Given the description of an element on the screen output the (x, y) to click on. 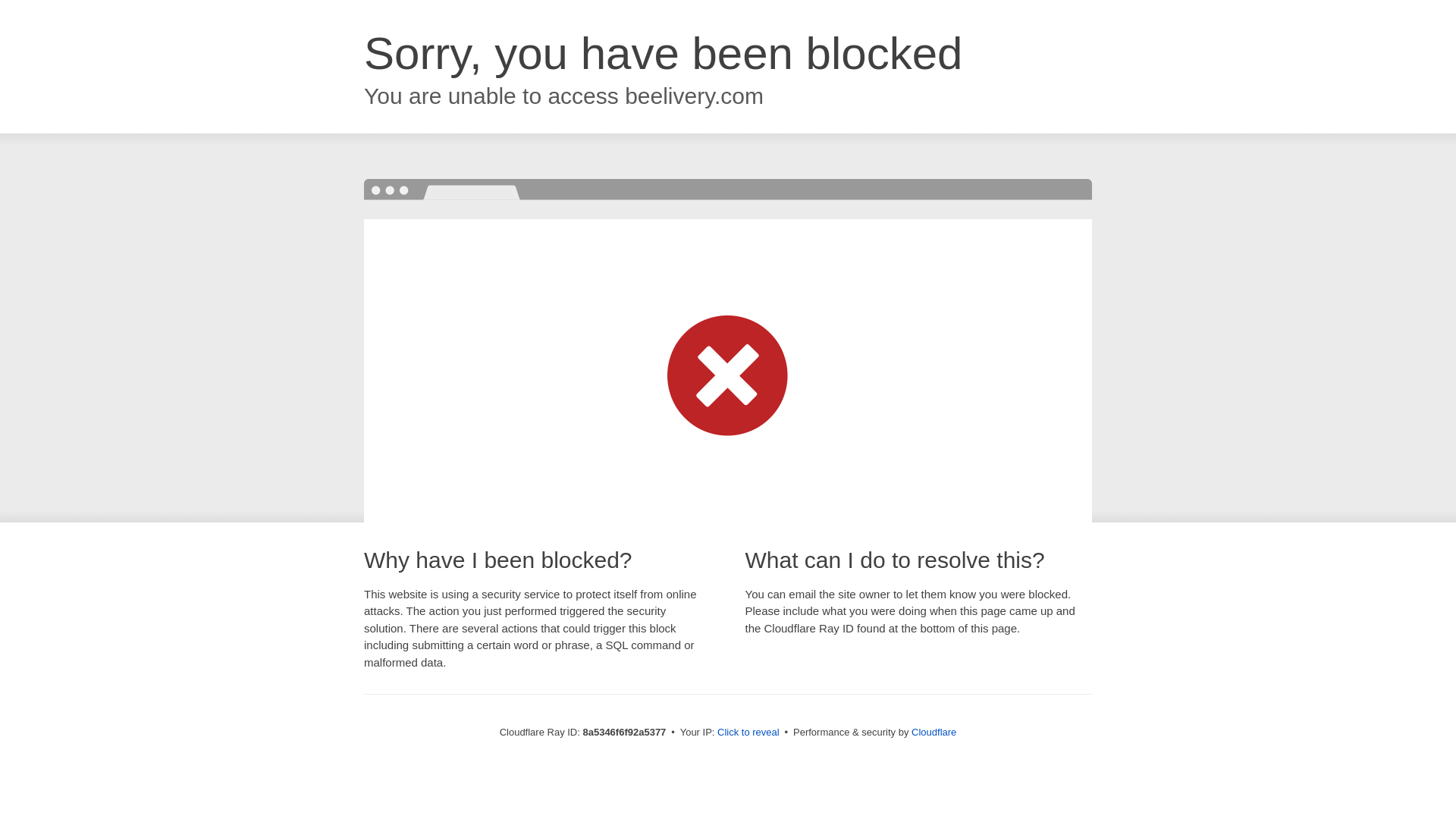
Click to reveal (747, 732)
Cloudflare (933, 731)
